Given the description of an element on the screen output the (x, y) to click on. 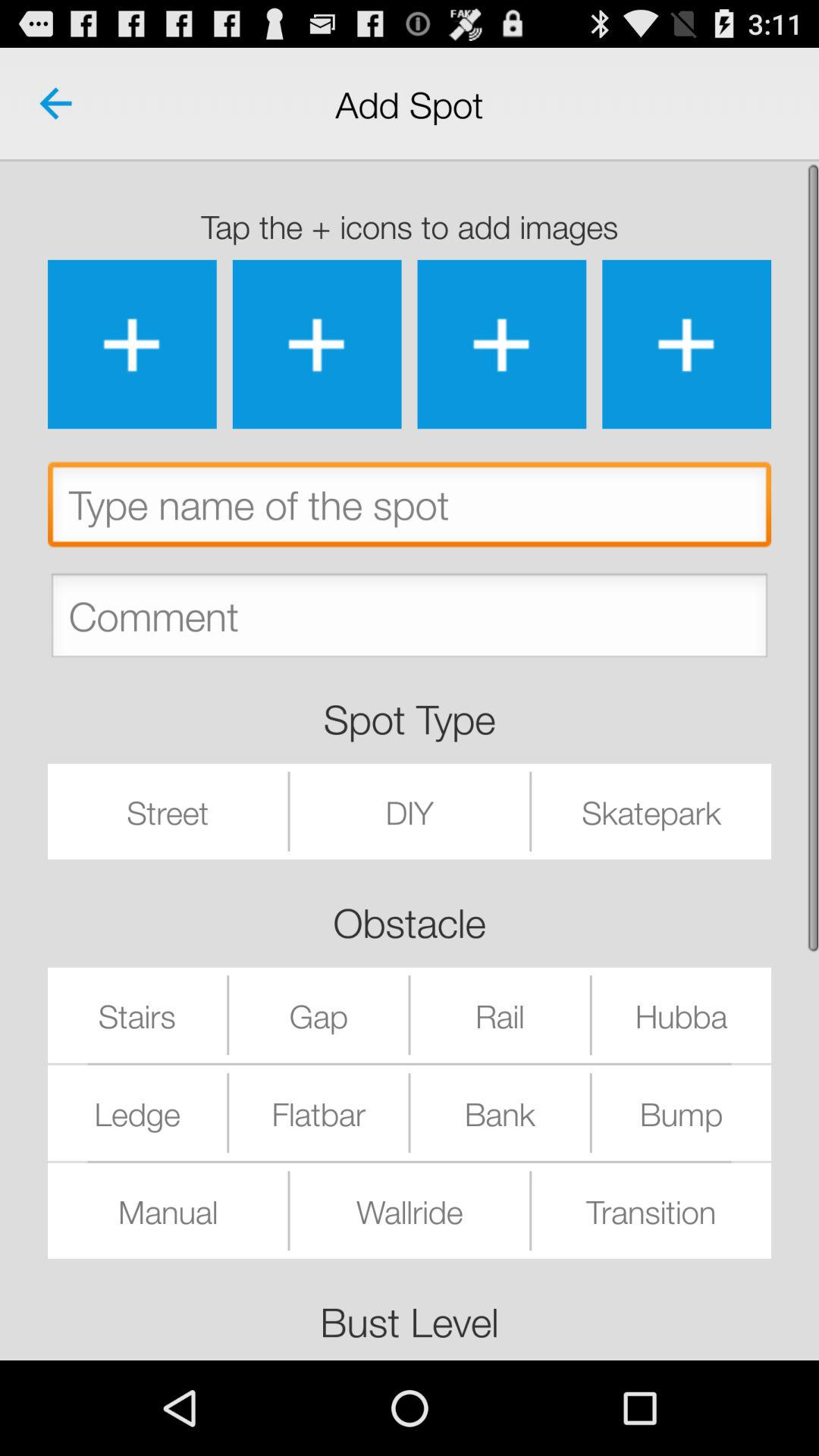
turn on item above the obstacle (409, 811)
